Given the description of an element on the screen output the (x, y) to click on. 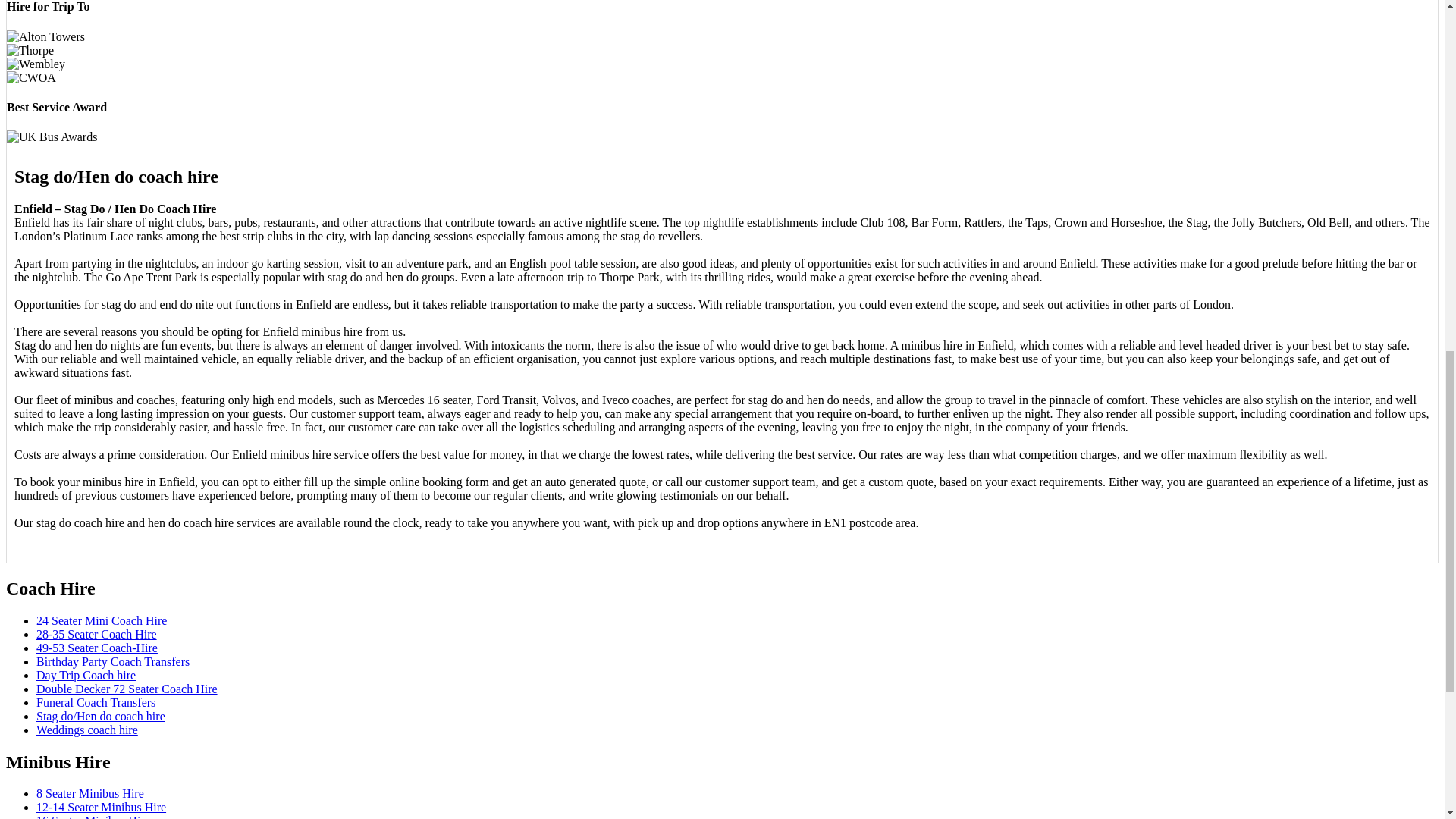
Birthday Party Coach Transfers (112, 661)
24 Seater Mini Coach Hire (101, 620)
28-35 Seater Coach Hire (96, 634)
49-53 Seater Coach-Hire (96, 647)
